Given the description of an element on the screen output the (x, y) to click on. 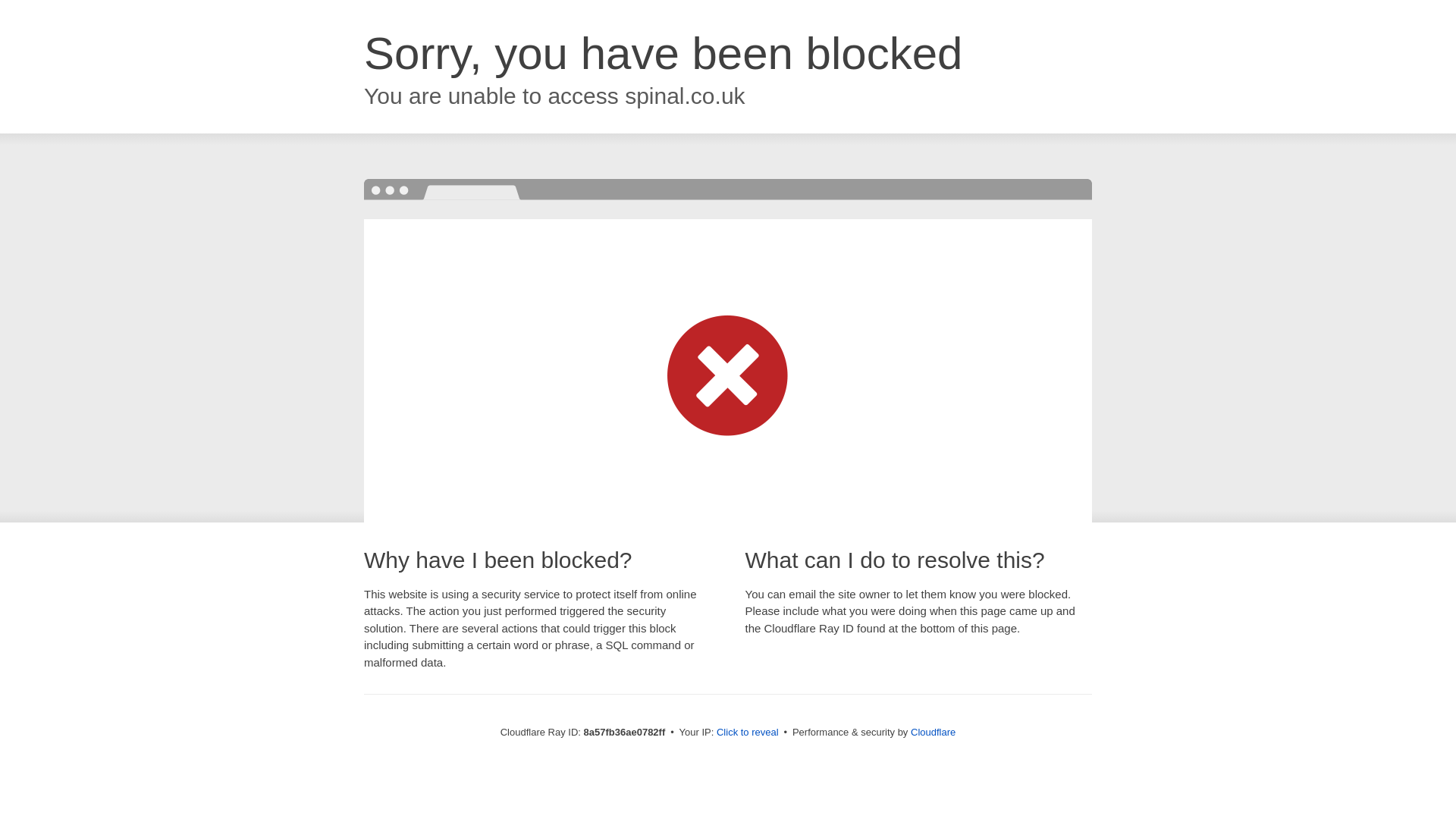
Click to reveal (747, 732)
Cloudflare (933, 731)
